Given the description of an element on the screen output the (x, y) to click on. 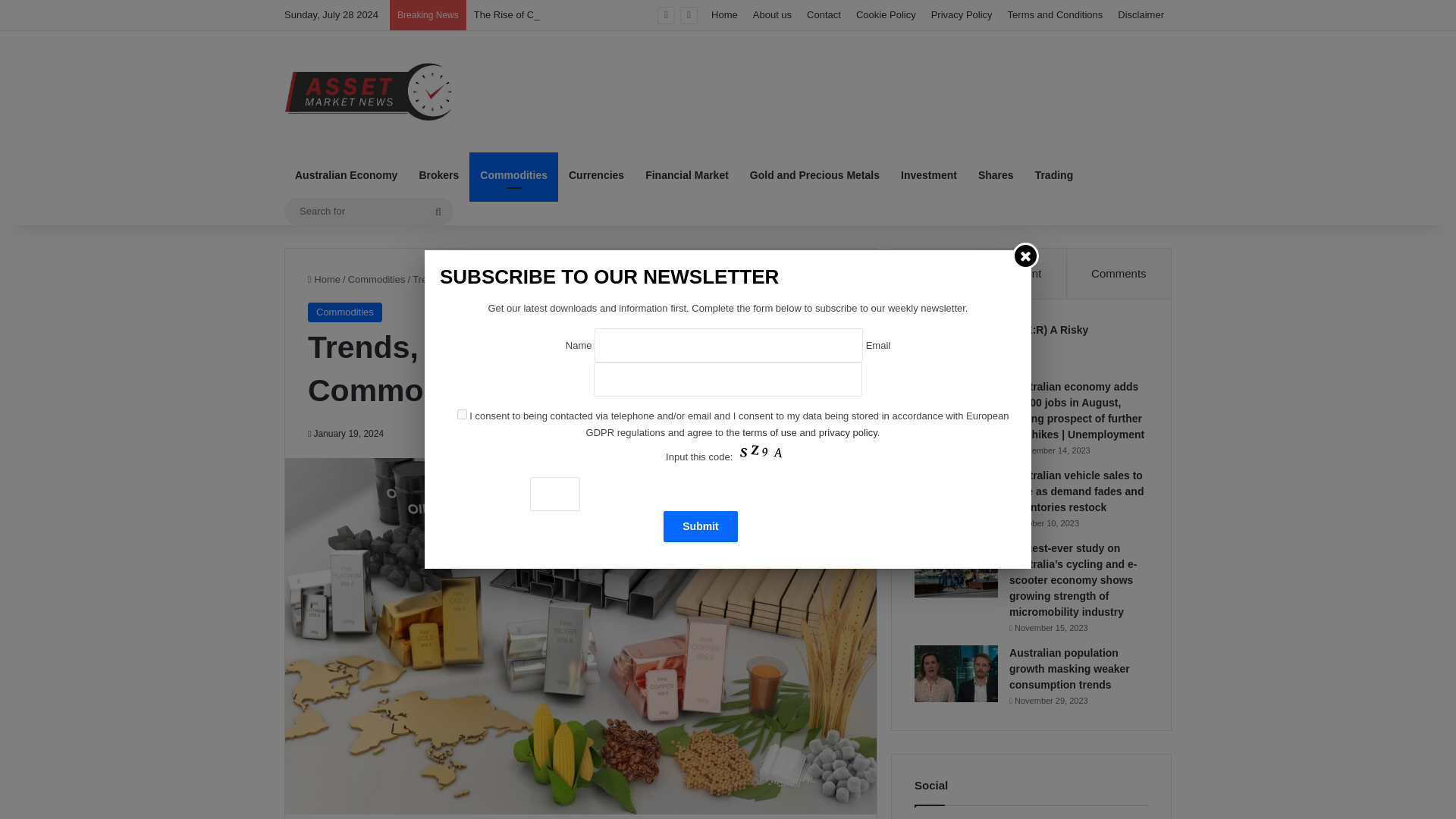
Investment (928, 175)
1 (462, 414)
Commodities (376, 279)
Submit (699, 526)
Search for (367, 211)
Disclaimer (1140, 15)
Australian Economy (345, 175)
About us (772, 15)
Brokers (437, 175)
Advertisement (880, 79)
Shares (996, 175)
Commodities (512, 175)
Privacy Policy (961, 15)
Financial Market (686, 175)
